Given the description of an element on the screen output the (x, y) to click on. 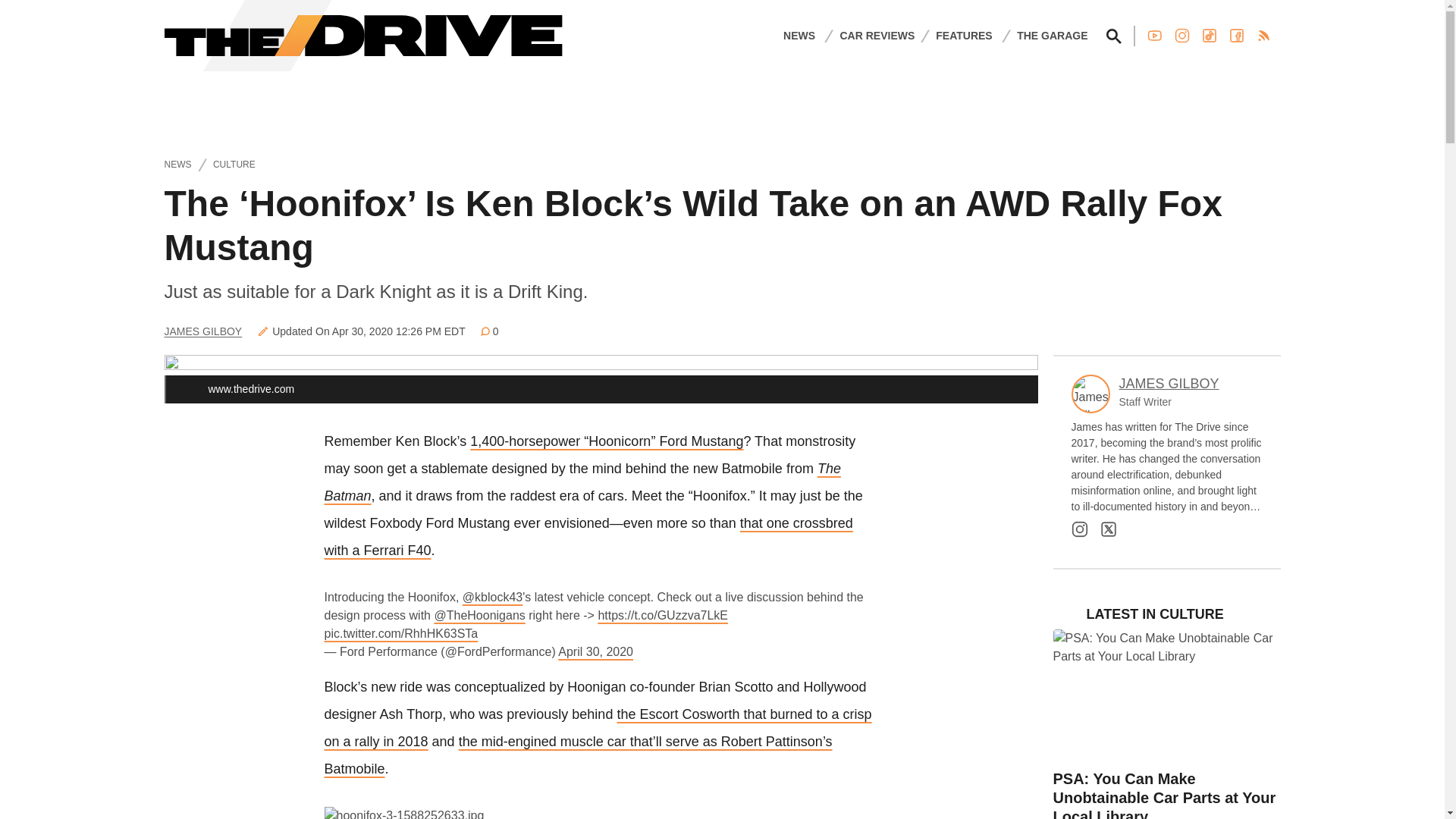
NEWS (799, 34)
